Given the description of an element on the screen output the (x, y) to click on. 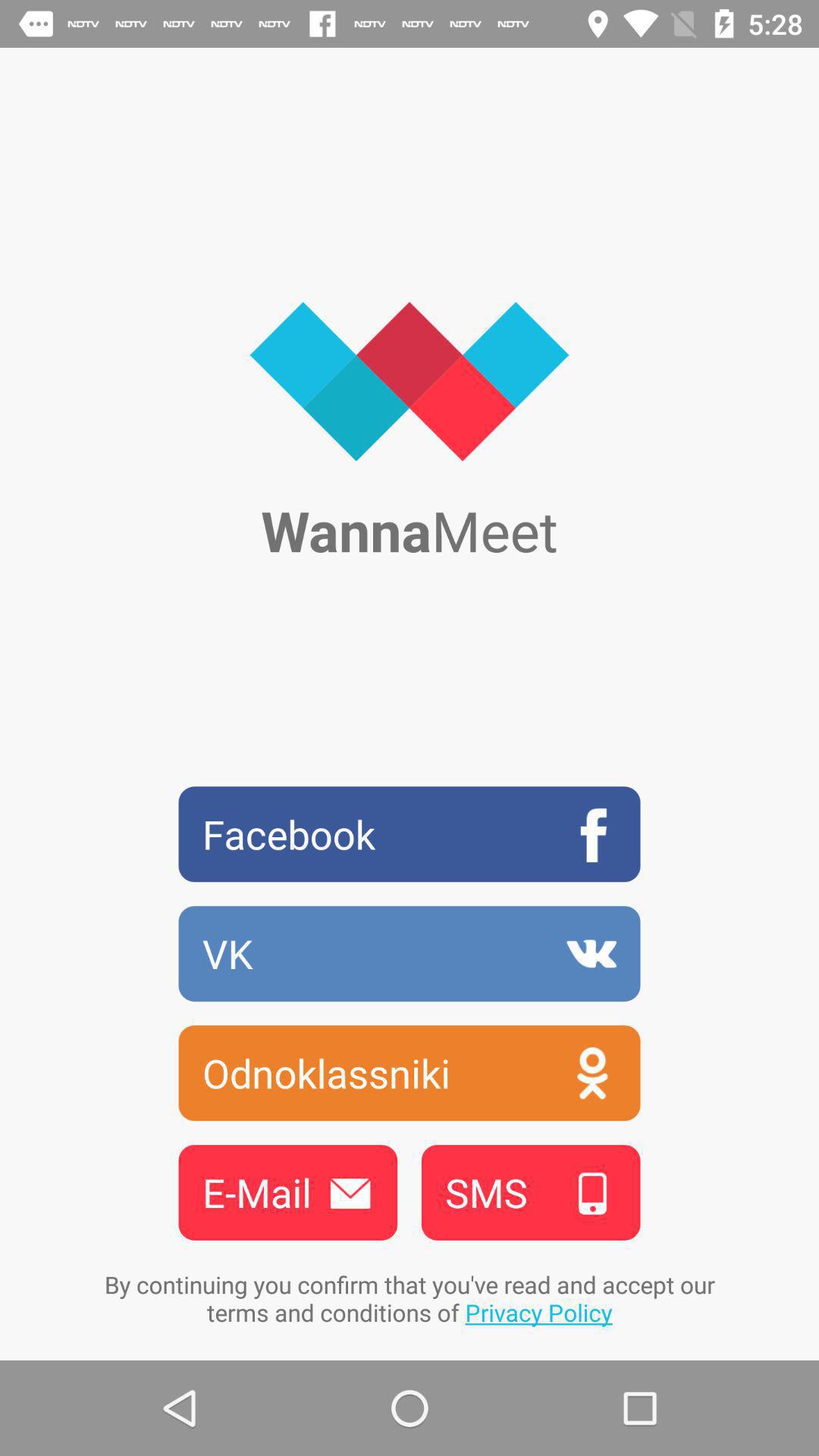
turn off item to the left of the sms icon (287, 1192)
